Given the description of an element on the screen output the (x, y) to click on. 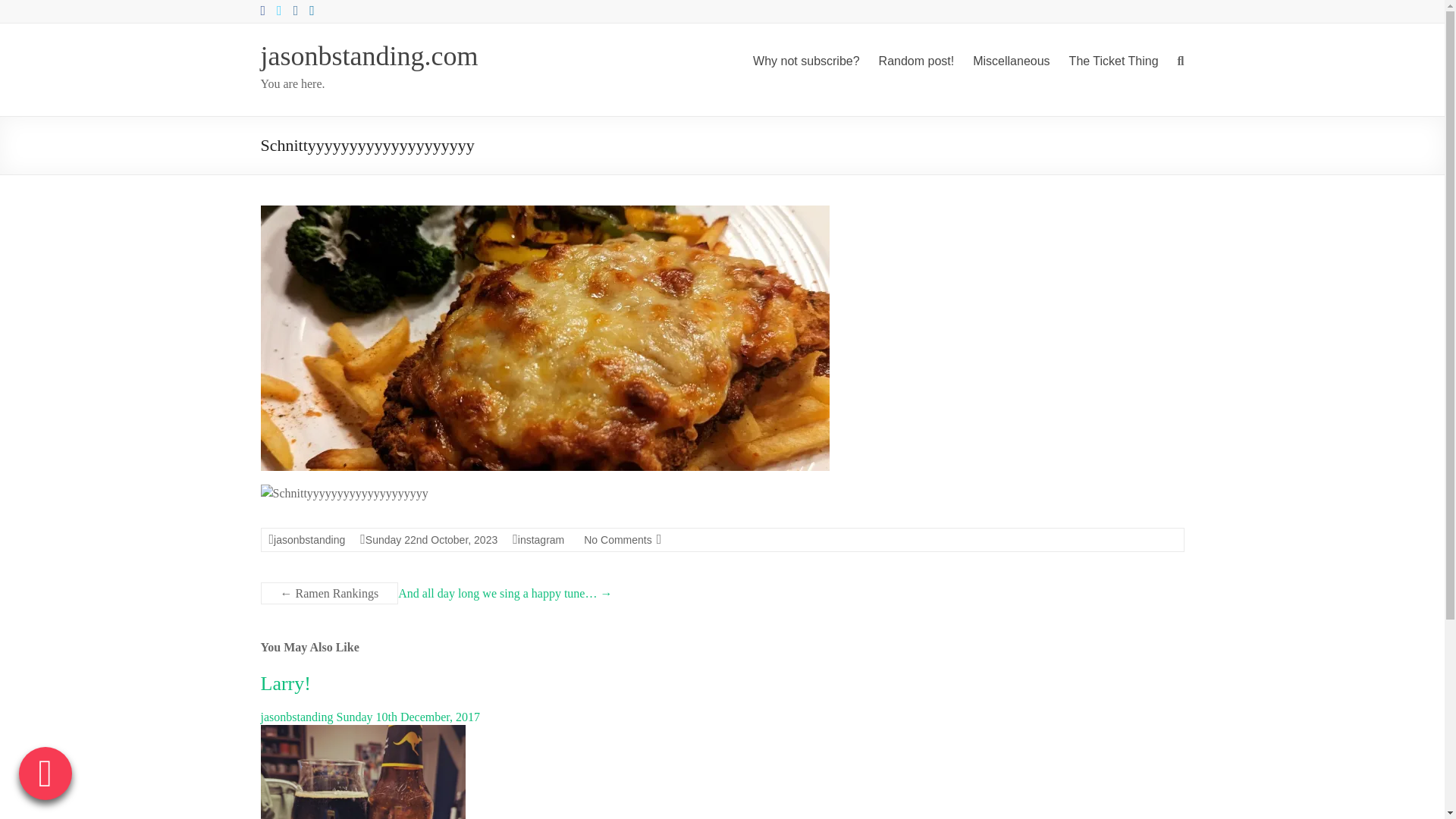
Larry! (285, 683)
Random post! (917, 60)
Sunday 22nd October, 2023 (431, 539)
jasonbstanding (309, 539)
jasonbstanding.com (369, 55)
Larry! (285, 683)
Why not subscribe? (806, 60)
The Ticket Thing (1113, 60)
Miscellaneous (1010, 60)
instagram (541, 539)
